Given the description of an element on the screen output the (x, y) to click on. 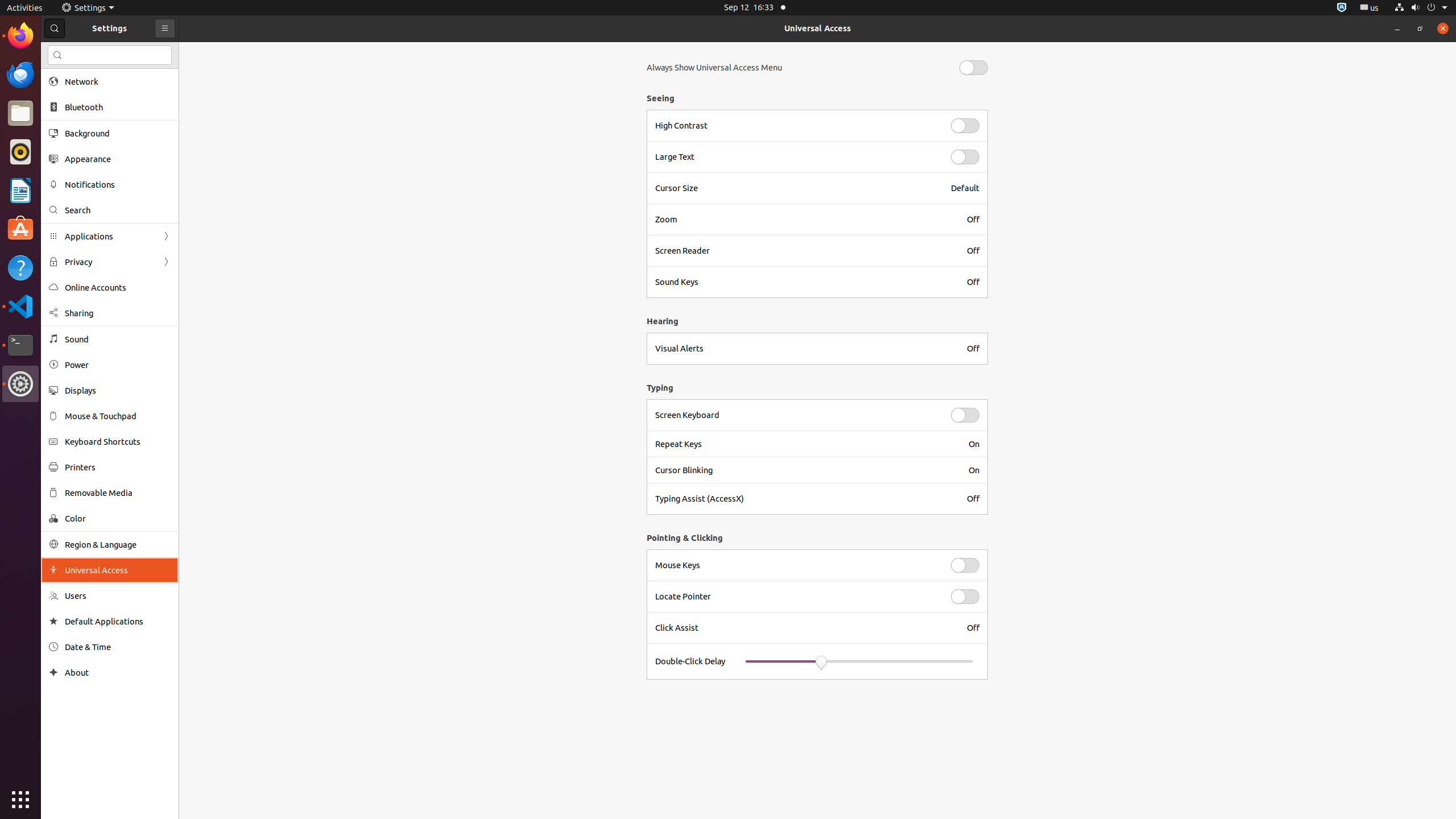
Sharing Element type: label (117, 312)
Sound Keys Element type: label (804, 281)
Background Element type: label (117, 133)
Restore Element type: push-button (1419, 27)
About Element type: icon (53, 672)
